Given the description of an element on the screen output the (x, y) to click on. 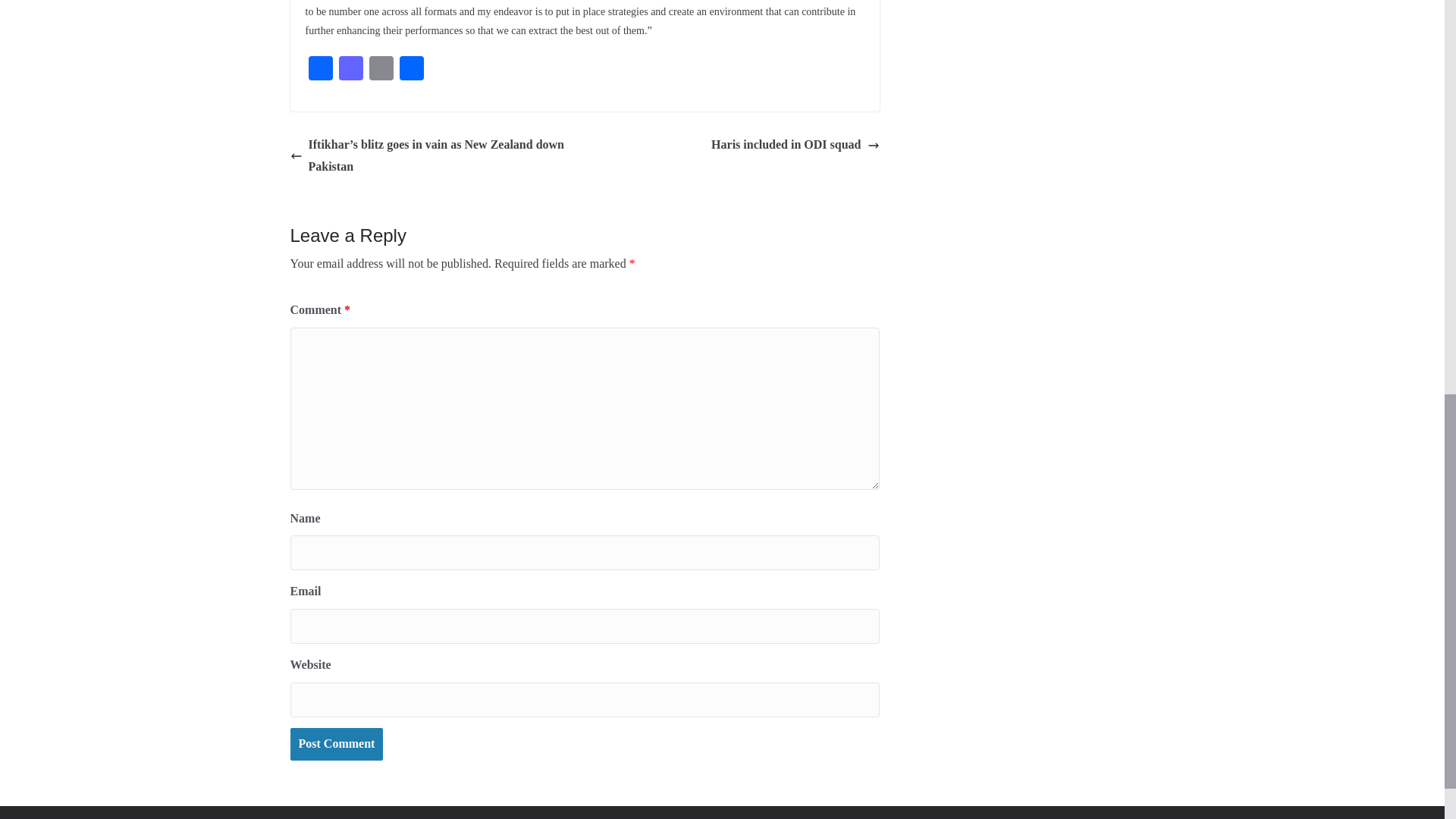
Share (411, 70)
Haris included in ODI squad (795, 145)
Mastodon (349, 70)
Post Comment (335, 744)
Facebook (319, 70)
Email (380, 70)
Mastodon (349, 70)
Facebook (319, 70)
Email (380, 70)
Post Comment (335, 744)
